Given the description of an element on the screen output the (x, y) to click on. 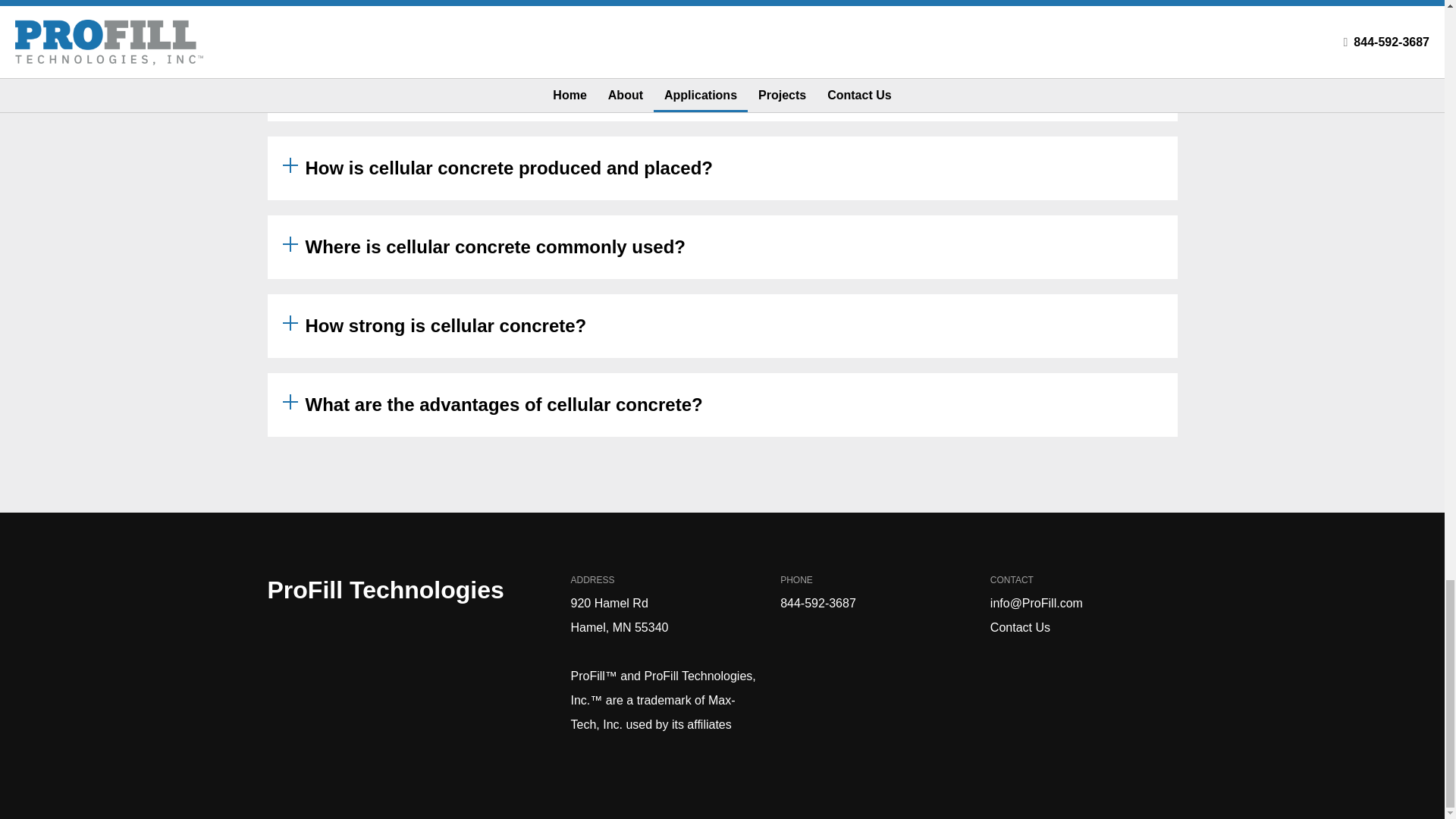
844-592-3687 (818, 603)
Contact Us (1019, 626)
How is cellular concrete produced and placed? (721, 167)
What is cellular concrete? (721, 89)
How strong is cellular concrete? (721, 325)
Where is cellular concrete commonly used? (721, 247)
What are the advantages of cellular concrete? (721, 404)
